Given the description of an element on the screen output the (x, y) to click on. 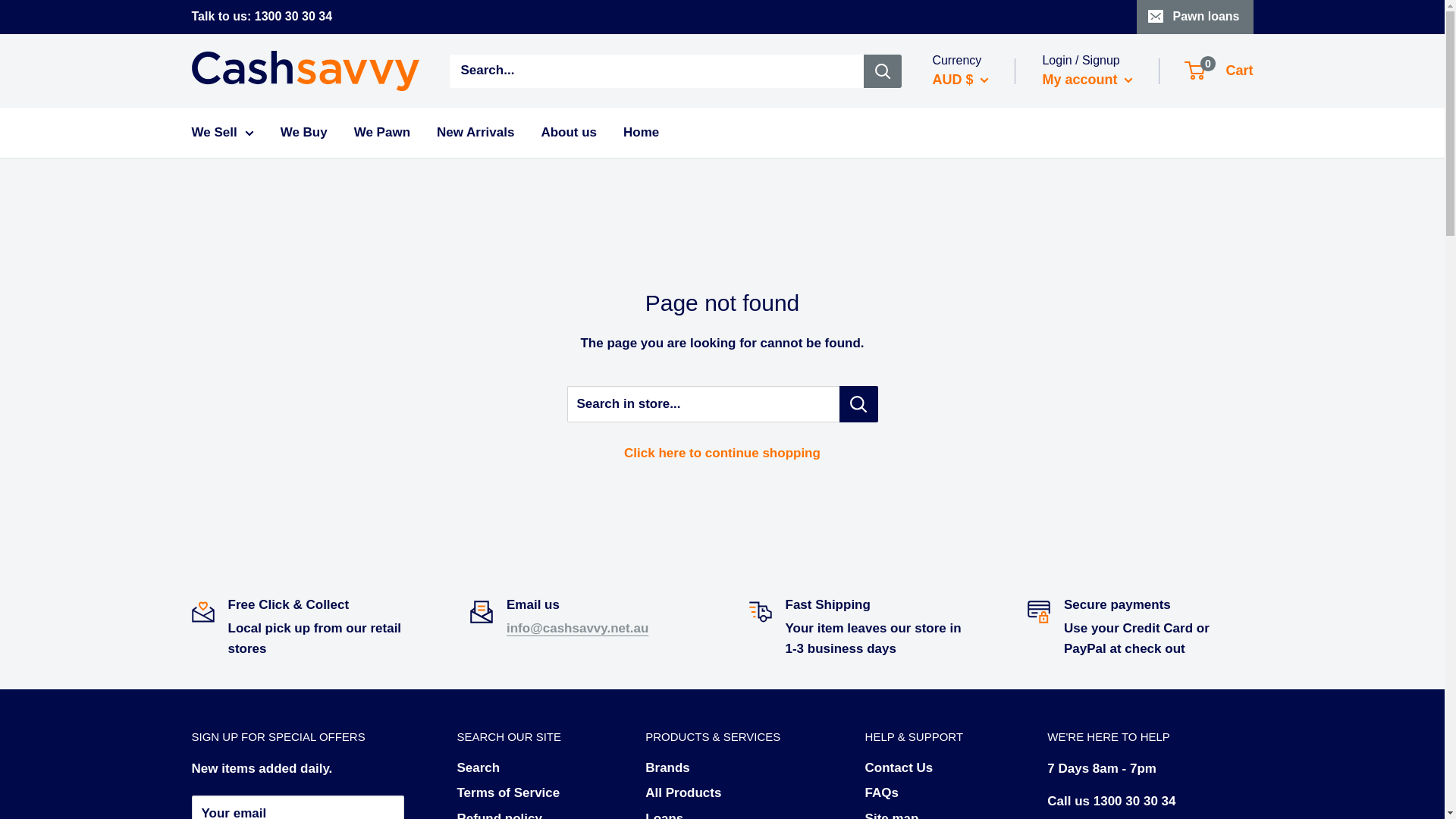
Pawn loans (1194, 16)
